Given the description of an element on the screen output the (x, y) to click on. 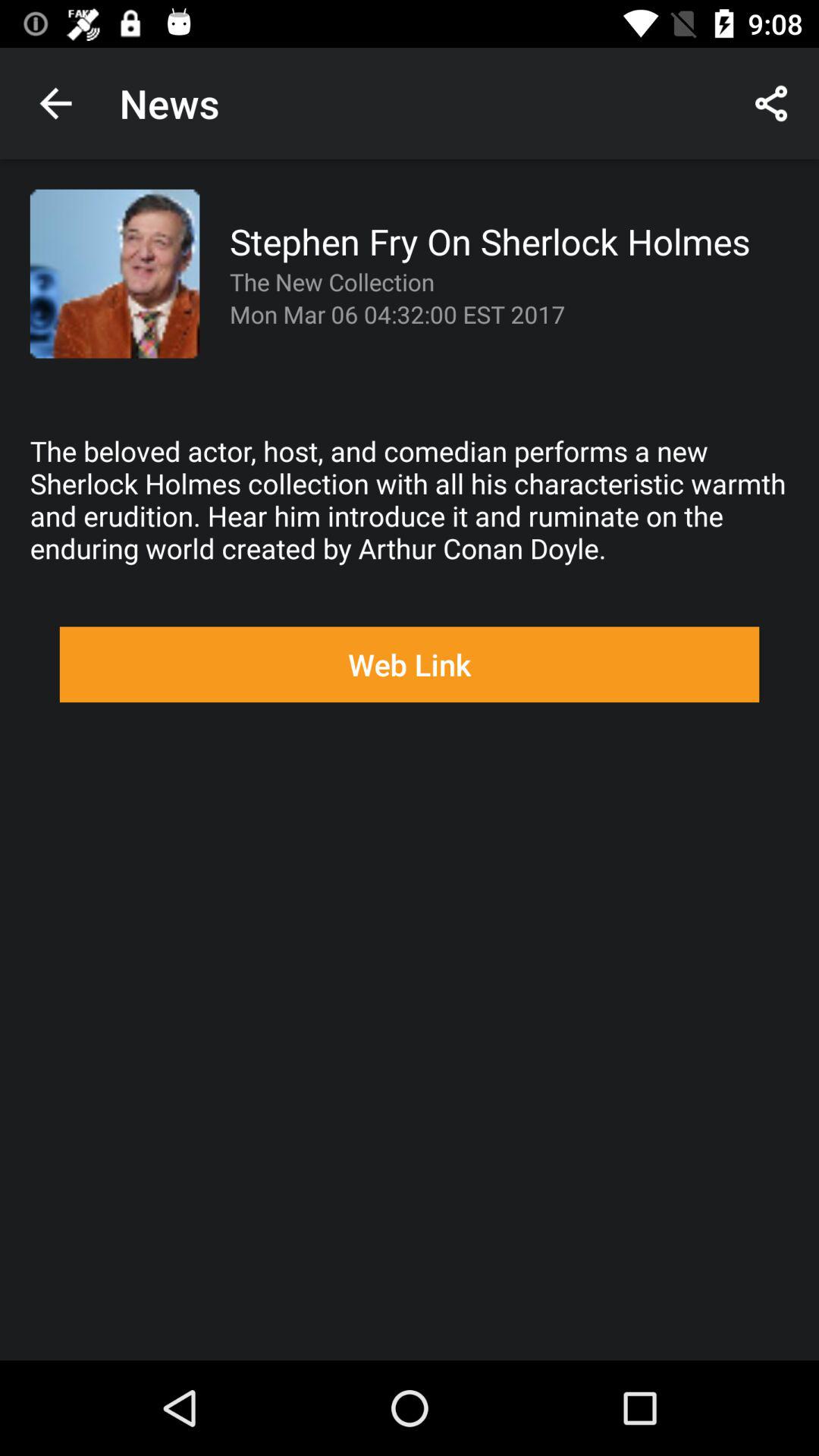
press item below the the beloved actor icon (409, 664)
